Given the description of an element on the screen output the (x, y) to click on. 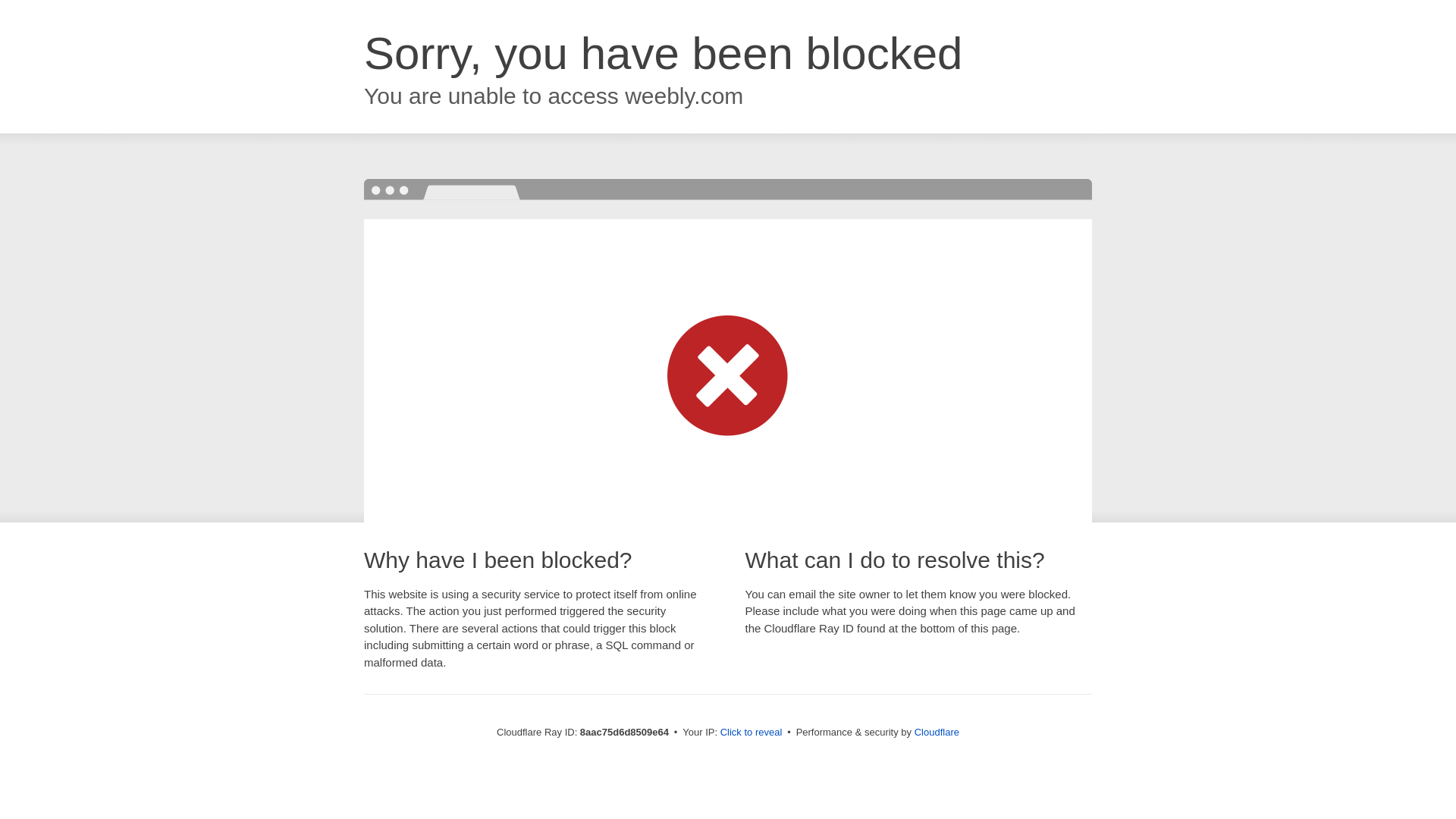
Click to reveal (751, 732)
Cloudflare (936, 731)
